Given the description of an element on the screen output the (x, y) to click on. 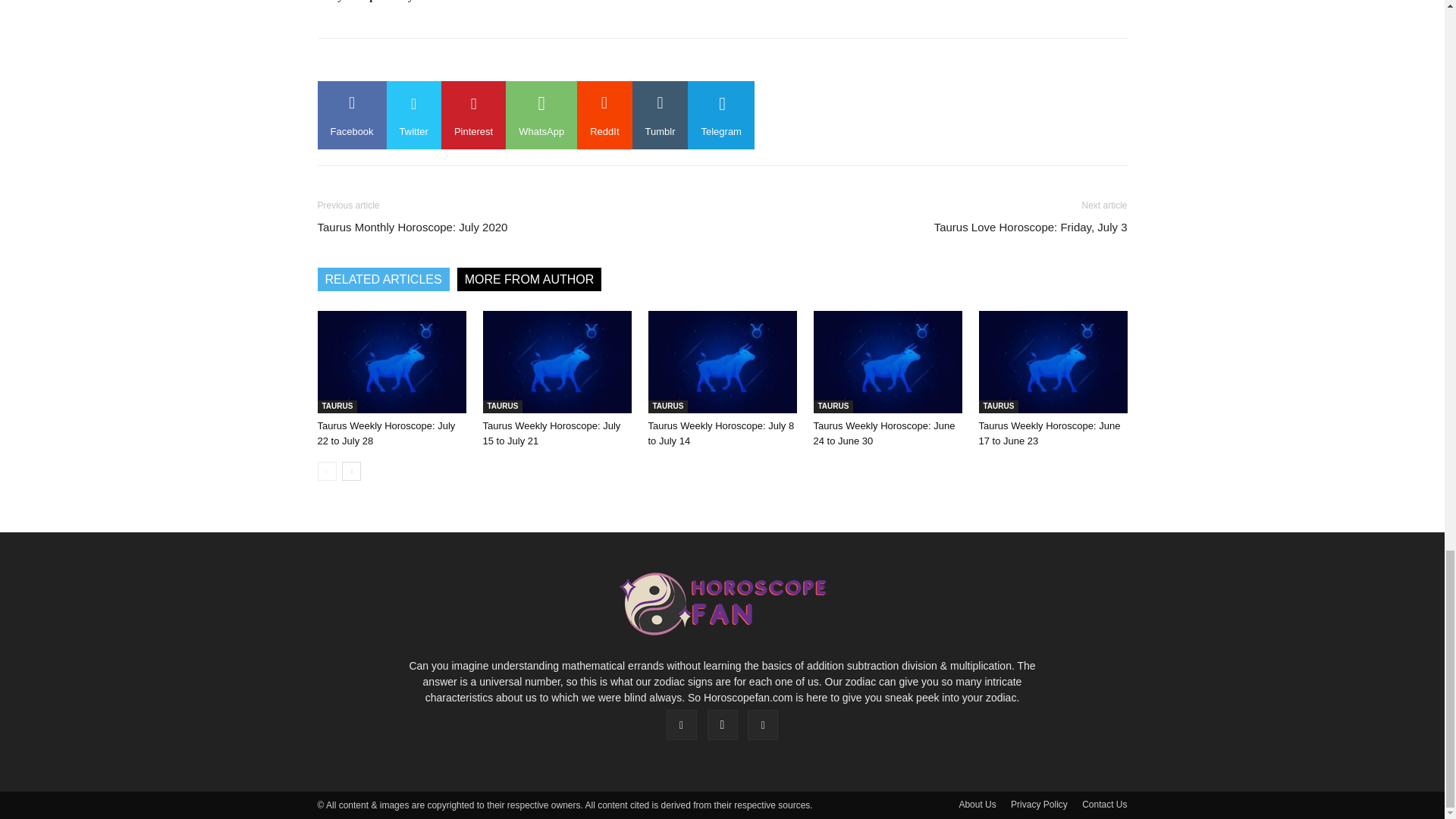
bottomFacebookLike (430, 62)
Facebook (351, 115)
